Given the description of an element on the screen output the (x, y) to click on. 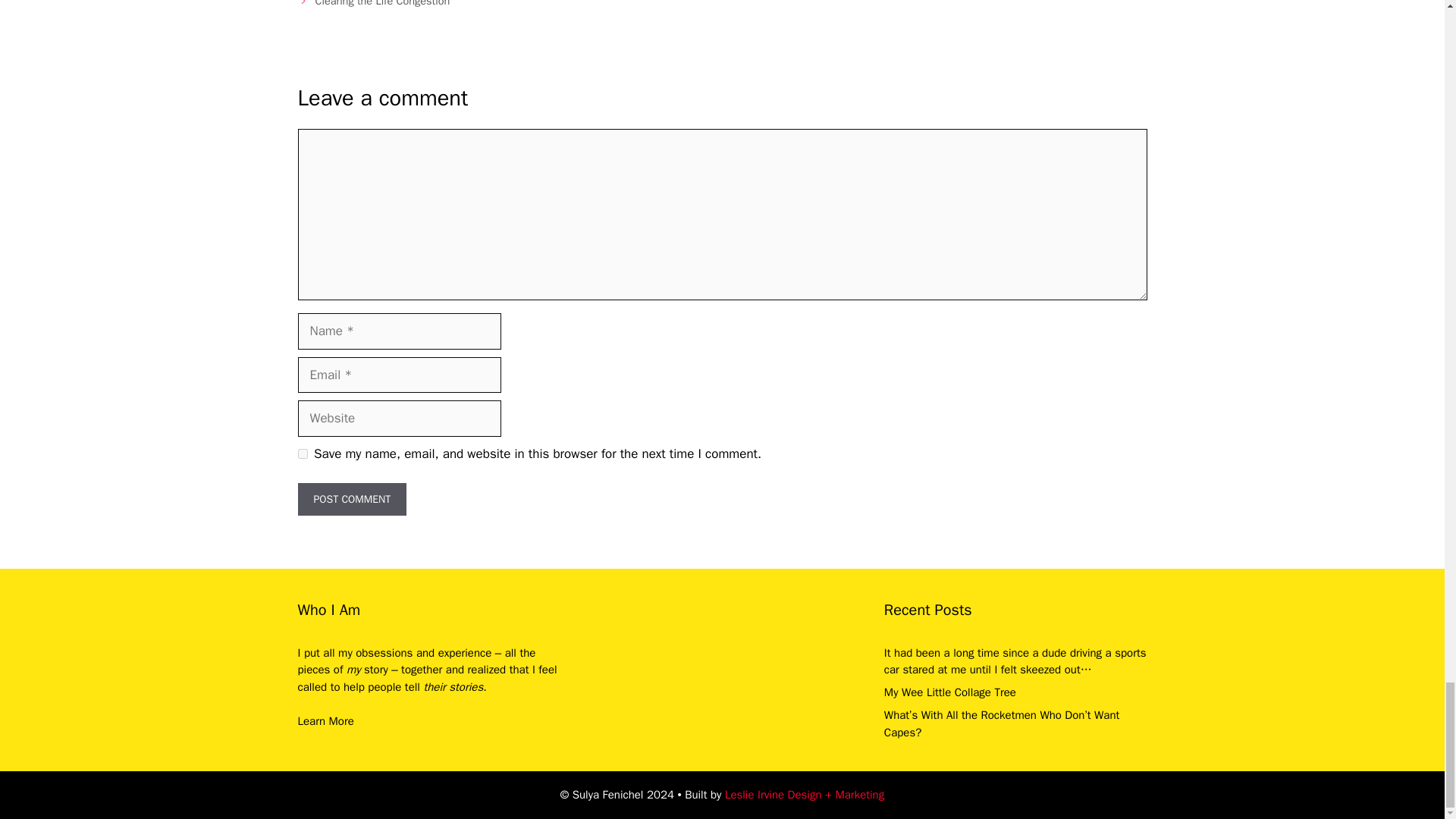
Post Comment (351, 499)
Learn More (325, 721)
Clearing the Life Congestion (382, 3)
Post Comment (351, 499)
My Wee Little Collage Tree (949, 692)
yes (302, 453)
